Given the description of an element on the screen output the (x, y) to click on. 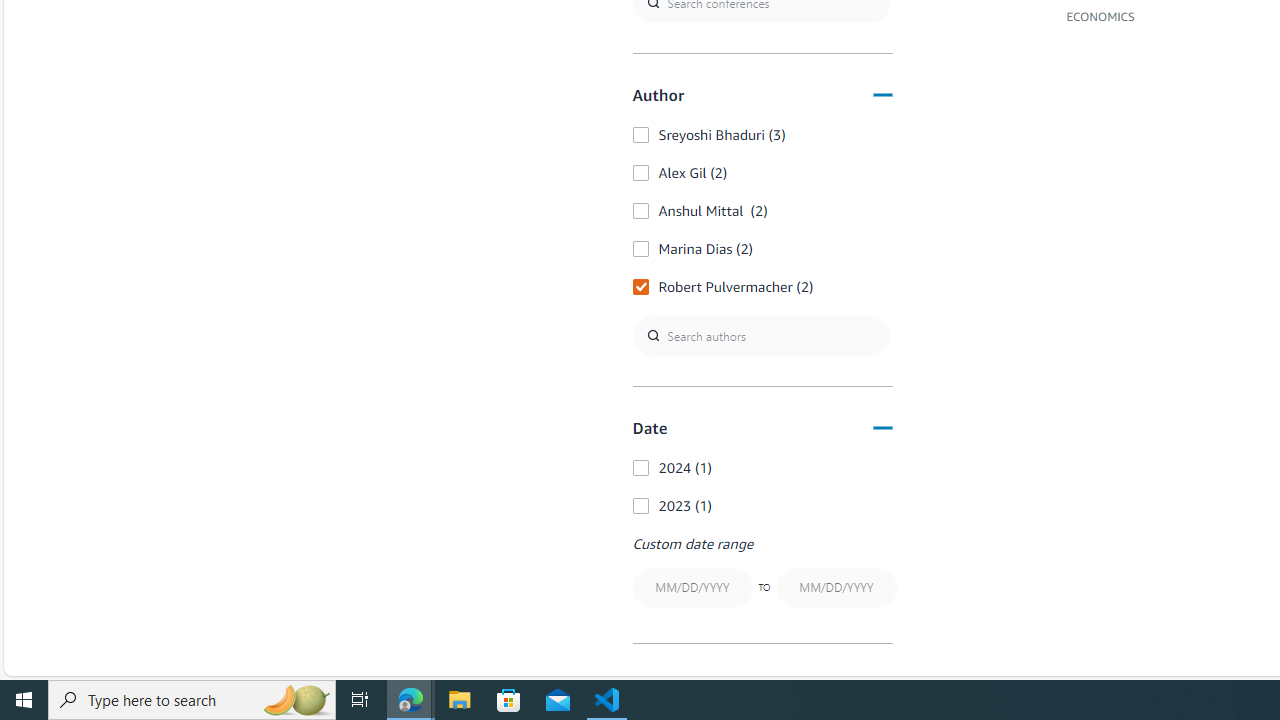
ECONOMICS (1100, 15)
Custom date rangeTO (762, 574)
mm/dd/yyyy (836, 588)
Search authors (760, 335)
